Given the description of an element on the screen output the (x, y) to click on. 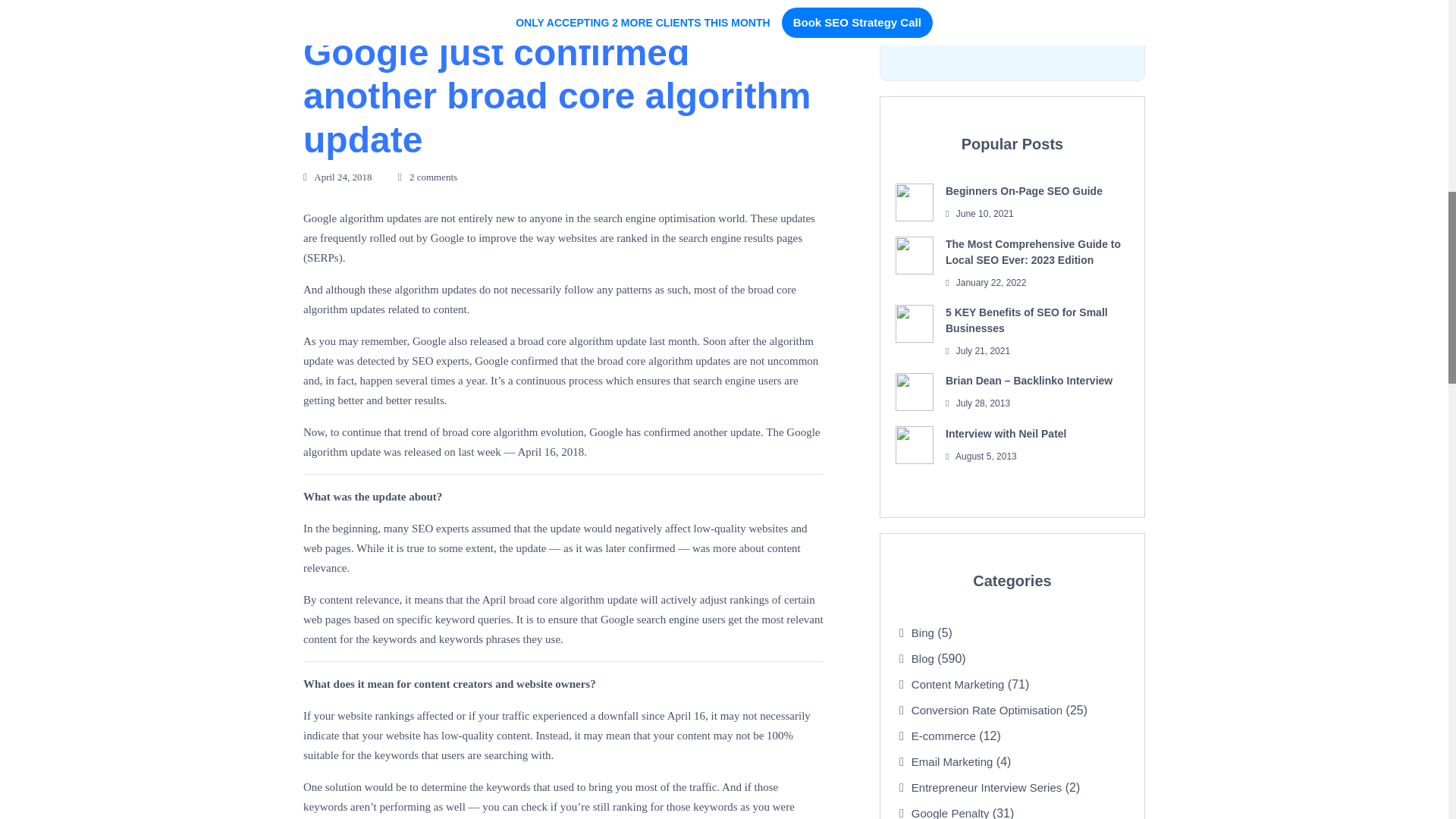
Blog, (389, 2)
Ryan (328, 2)
SEO, (444, 2)
News, (417, 2)
